Given the description of an element on the screen output the (x, y) to click on. 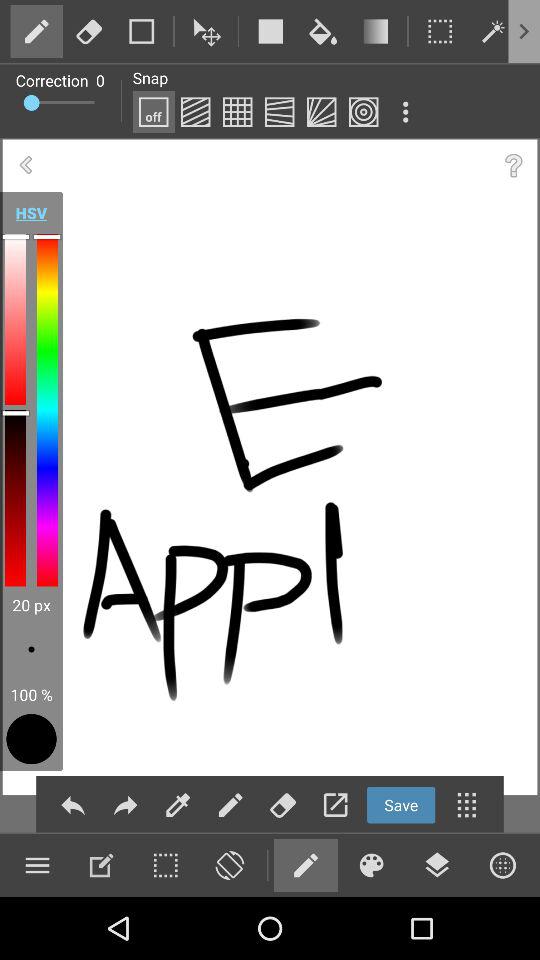
paint button (237, 112)
